Given the description of an element on the screen output the (x, y) to click on. 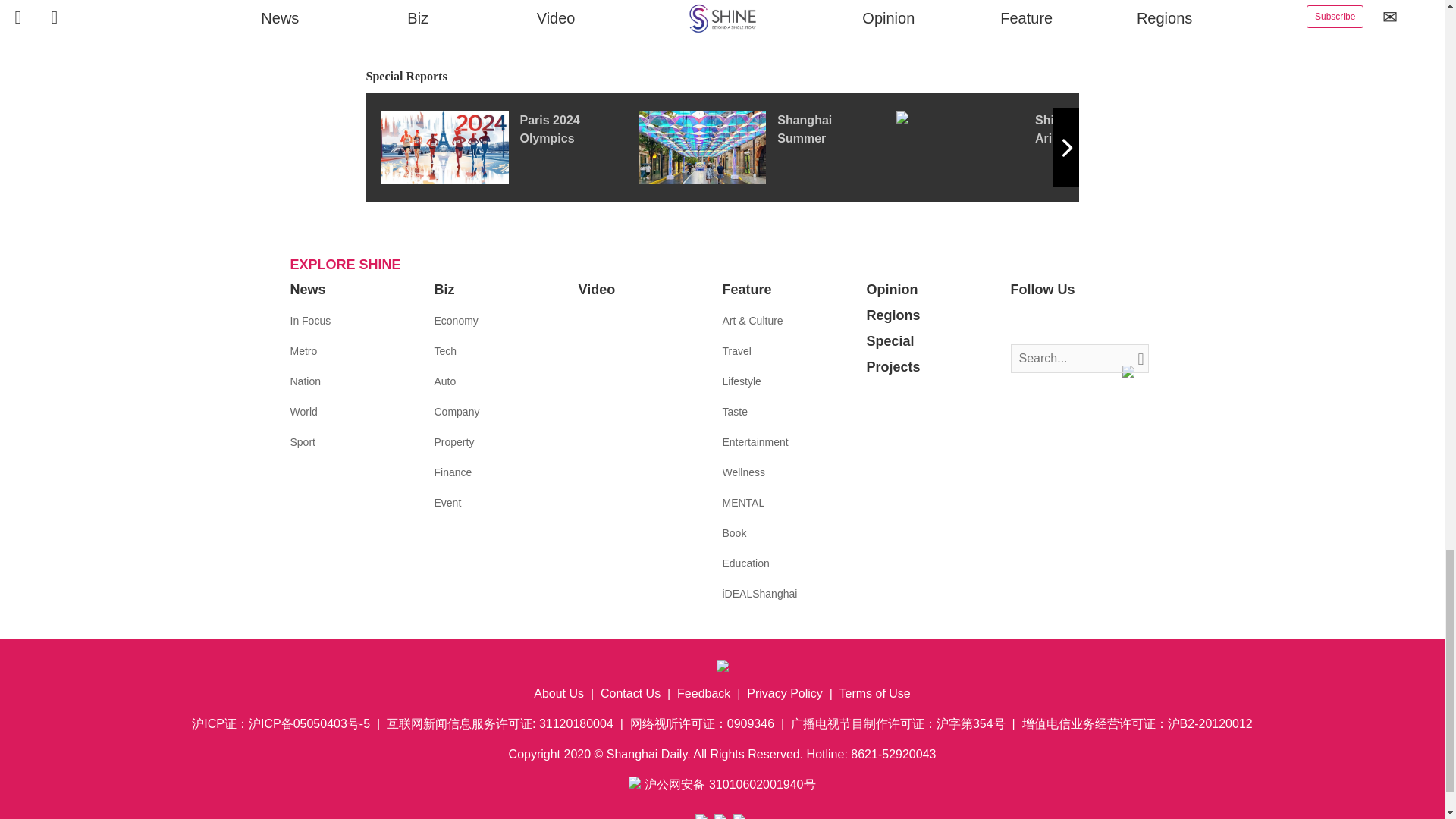
In Focus (309, 320)
Follow us on Wechat (1112, 321)
Follow us on Instagram (1067, 321)
World (303, 411)
Follow us on Twitter (1044, 321)
Shine Bright with Arina (1024, 146)
Follow us on Facebook (1021, 321)
Paris 2024 Olympics (508, 146)
Nation (304, 381)
Special Reports (721, 76)
Follow us on Youtube (1090, 321)
News (306, 289)
Shanghai Summer (767, 146)
Metro (303, 350)
